Given the description of an element on the screen output the (x, y) to click on. 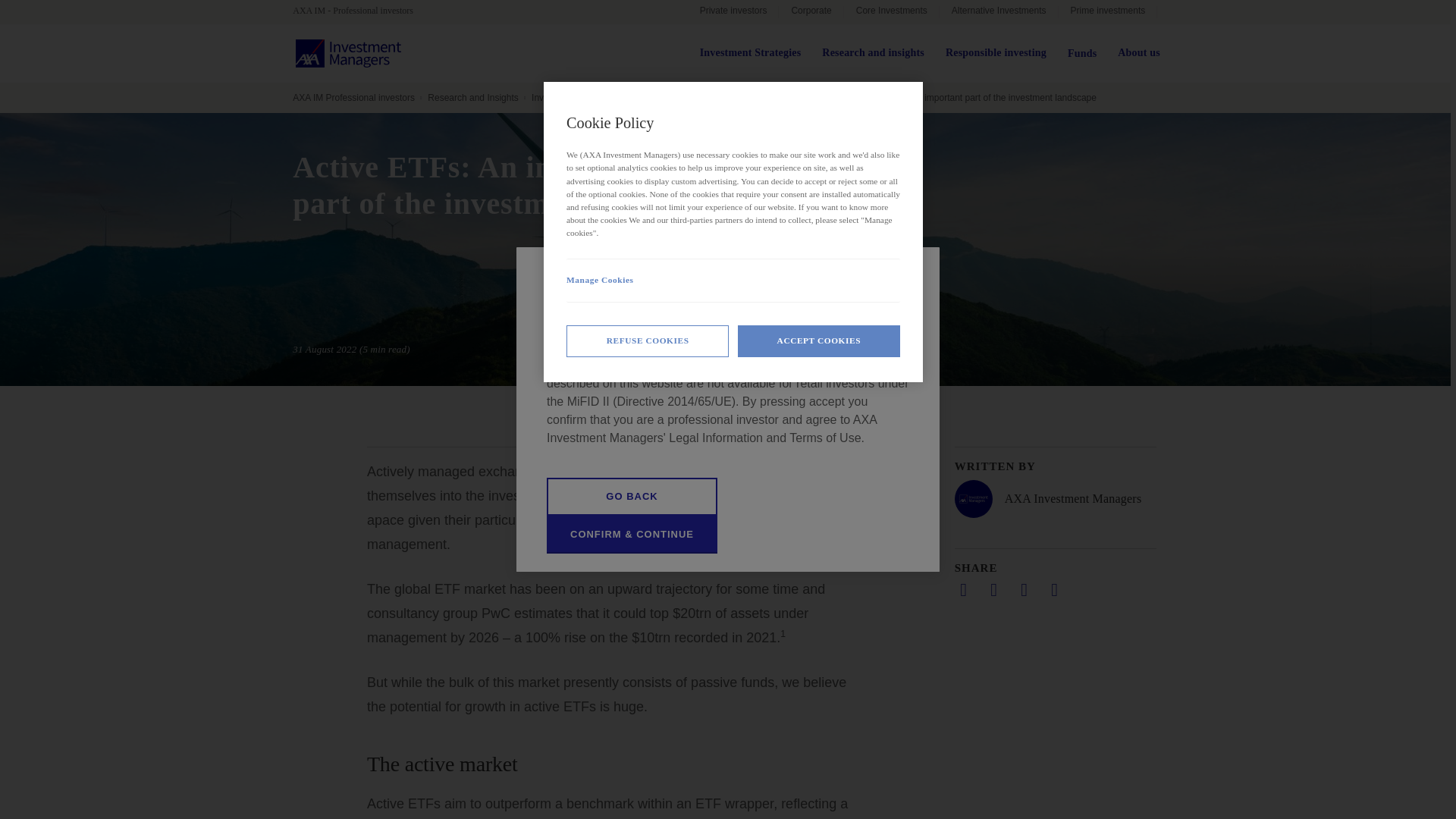
Share on twitter - New window (994, 589)
Corporate (810, 12)
Research and insights (873, 53)
Prime investments (1107, 12)
AXA IM - Professional investors (360, 10)
Share on LinkedIn - New window (963, 589)
Shared by mail (1023, 589)
AXA Investment Managers, Home (348, 53)
Investment Strategies (751, 53)
Core Investments (891, 12)
